Given the description of an element on the screen output the (x, y) to click on. 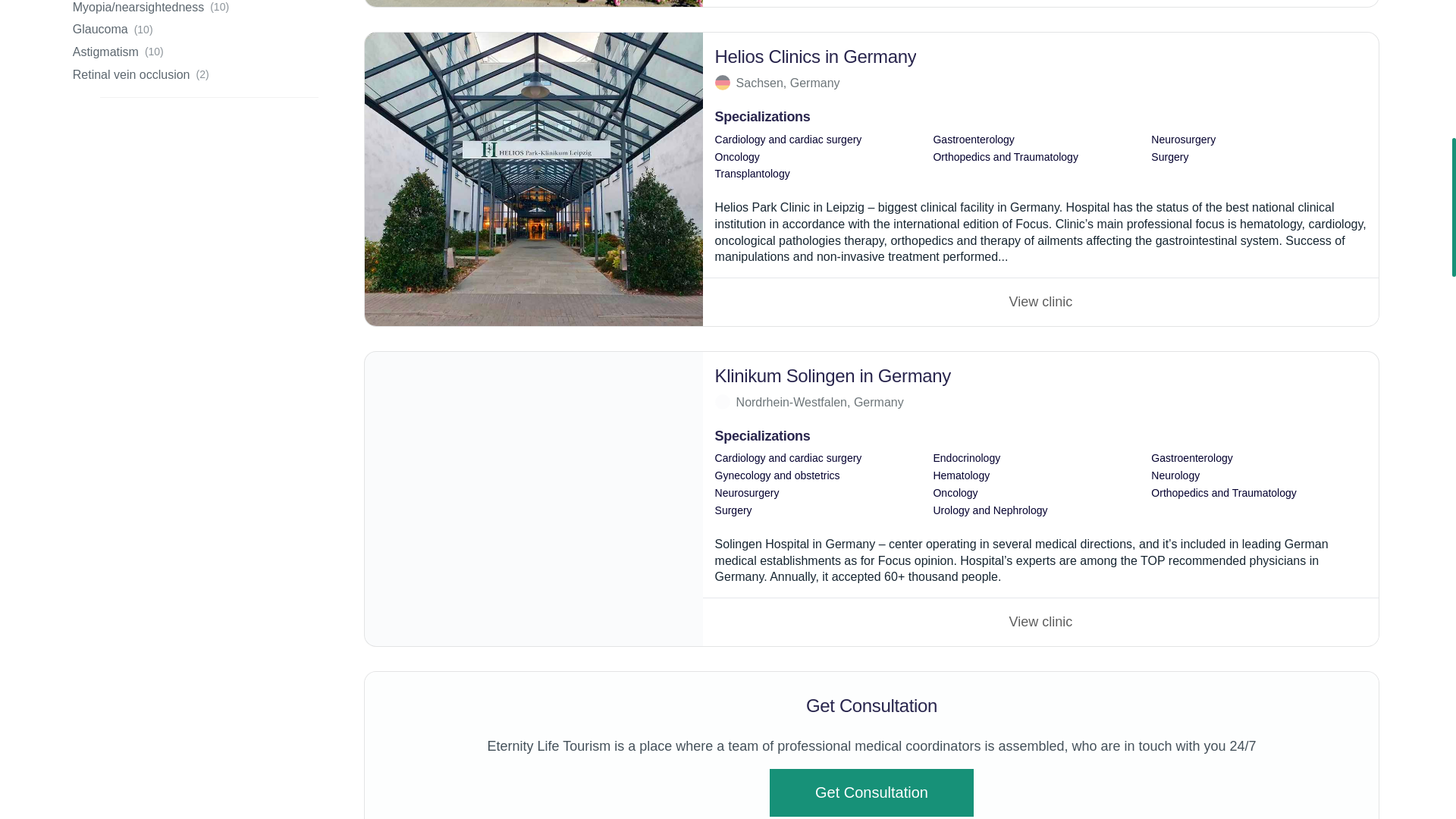
Helios Hospital in Munich (534, 3)
Klinikum Solingen in Germany (534, 499)
Adenocarcinoma (1040, 301)
Helios Clinics in Germany (534, 178)
Adenocarcinoma (1040, 621)
